Given the description of an element on the screen output the (x, y) to click on. 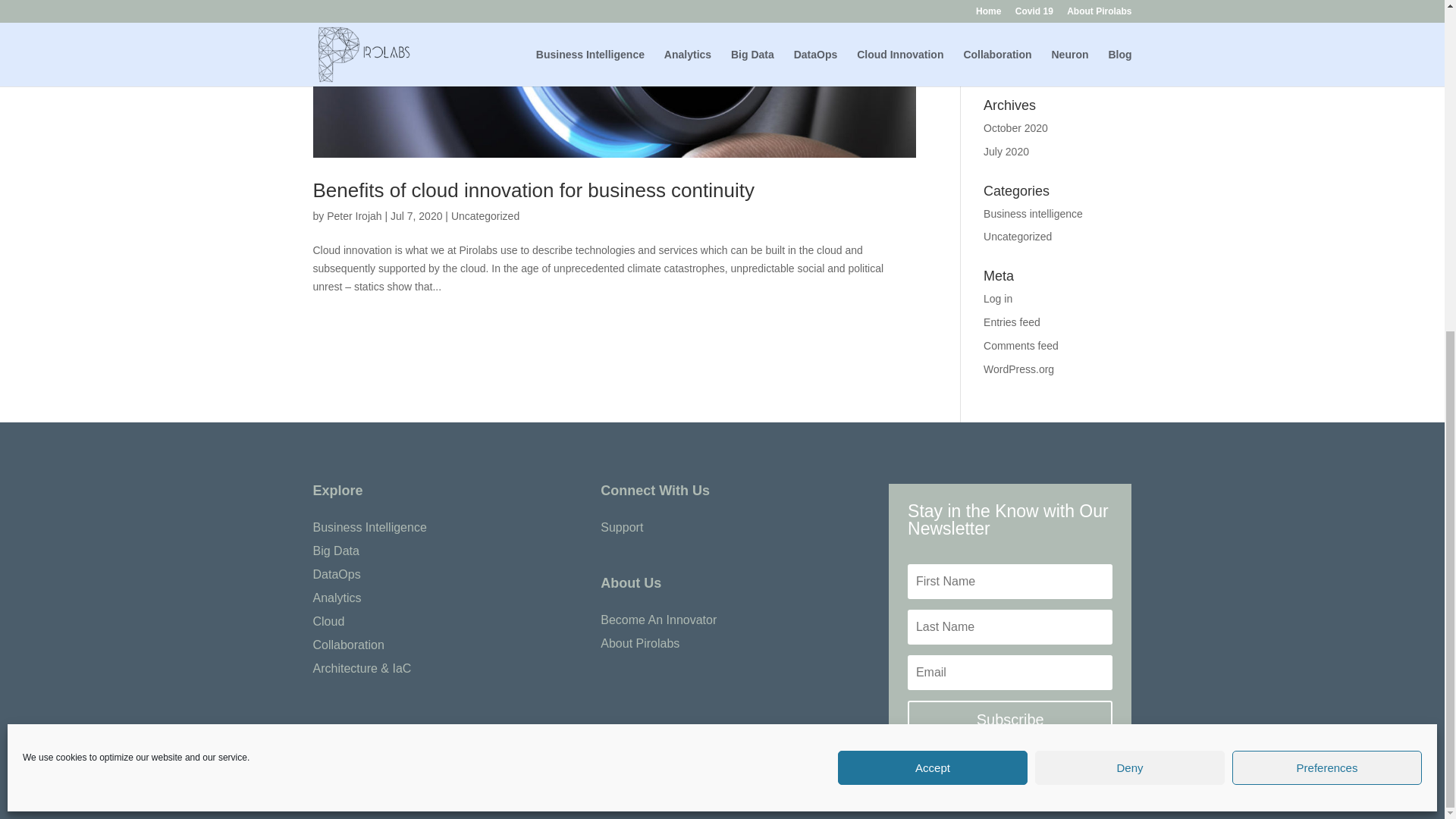
Accept (932, 217)
Benefits of cloud innovation for business continuity (533, 190)
Preferences (1326, 217)
Deny (1129, 217)
Posts by Peter Irojah (353, 215)
